Given the description of an element on the screen output the (x, y) to click on. 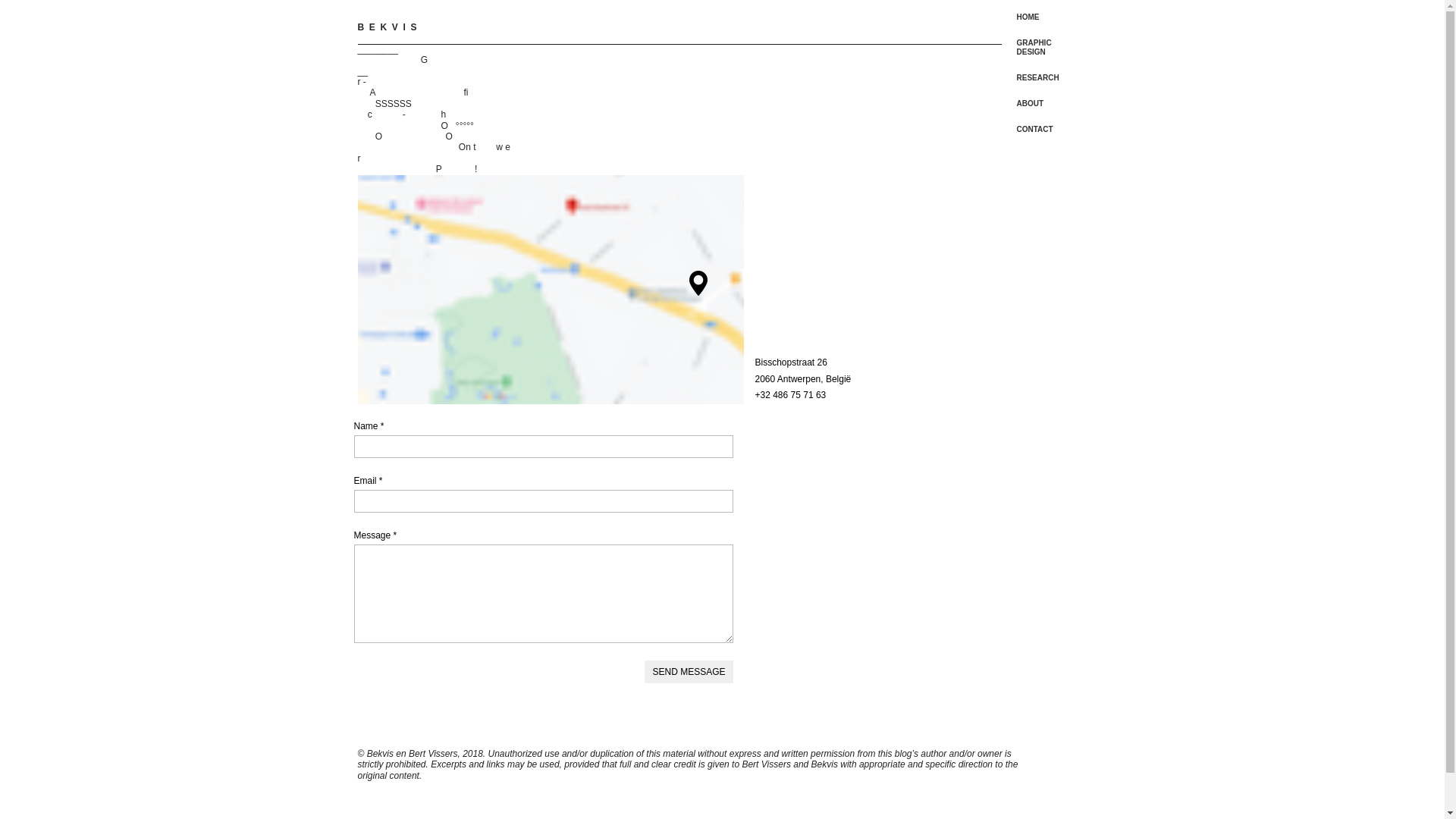
RESEARCH Element type: text (1037, 78)
SEND MESSAGE Element type: text (688, 671)
HOME Element type: text (1037, 17)
CONTACT Element type: text (1037, 129)
GRAPHIC DESIGN Element type: text (1037, 47)
ABOUT Element type: text (1037, 103)
